Given the description of an element on the screen output the (x, y) to click on. 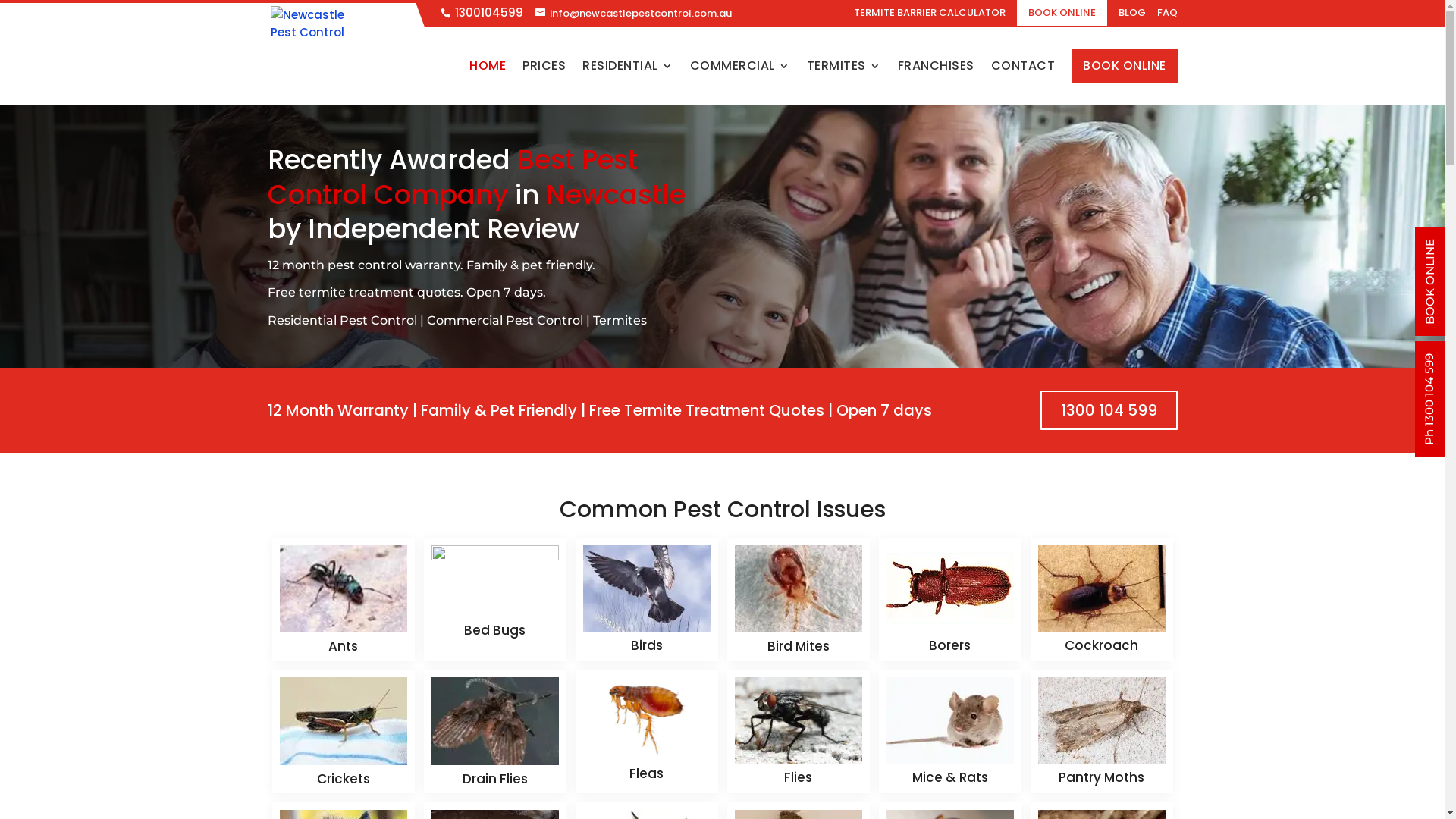
Ants Element type: text (342, 646)
TERMITES Element type: text (843, 82)
1300104599 Element type: text (489, 12)
Bird Mites Element type: text (798, 646)
info@newcastlepestcontrol.com.au Element type: text (633, 13)
HOME Element type: text (487, 82)
Drain Flies Element type: text (494, 778)
Cockroach Element type: text (1101, 645)
BLOG Element type: text (1131, 16)
FAQ Element type: text (1167, 16)
FRANCHISES Element type: text (935, 82)
Mice & Rats Element type: text (949, 777)
Pantry Moths Element type: text (1101, 777)
BOOK ONLINE Element type: text (1124, 65)
BOOK ONLINE Element type: text (1061, 12)
Borers Element type: text (949, 645)
Crickets Element type: text (343, 778)
TERMITE BARRIER CALCULATOR Element type: text (929, 16)
Bed Bugs Element type: text (494, 630)
1300 104 599 Element type: text (1108, 409)
RESIDENTIAL Element type: text (627, 82)
Flies Element type: text (798, 777)
COMMERCIAL Element type: text (740, 82)
Fleas Element type: text (646, 773)
CONTACT Element type: text (1022, 82)
Birds Element type: text (646, 645)
PRICES Element type: text (543, 82)
